Given the description of an element on the screen output the (x, y) to click on. 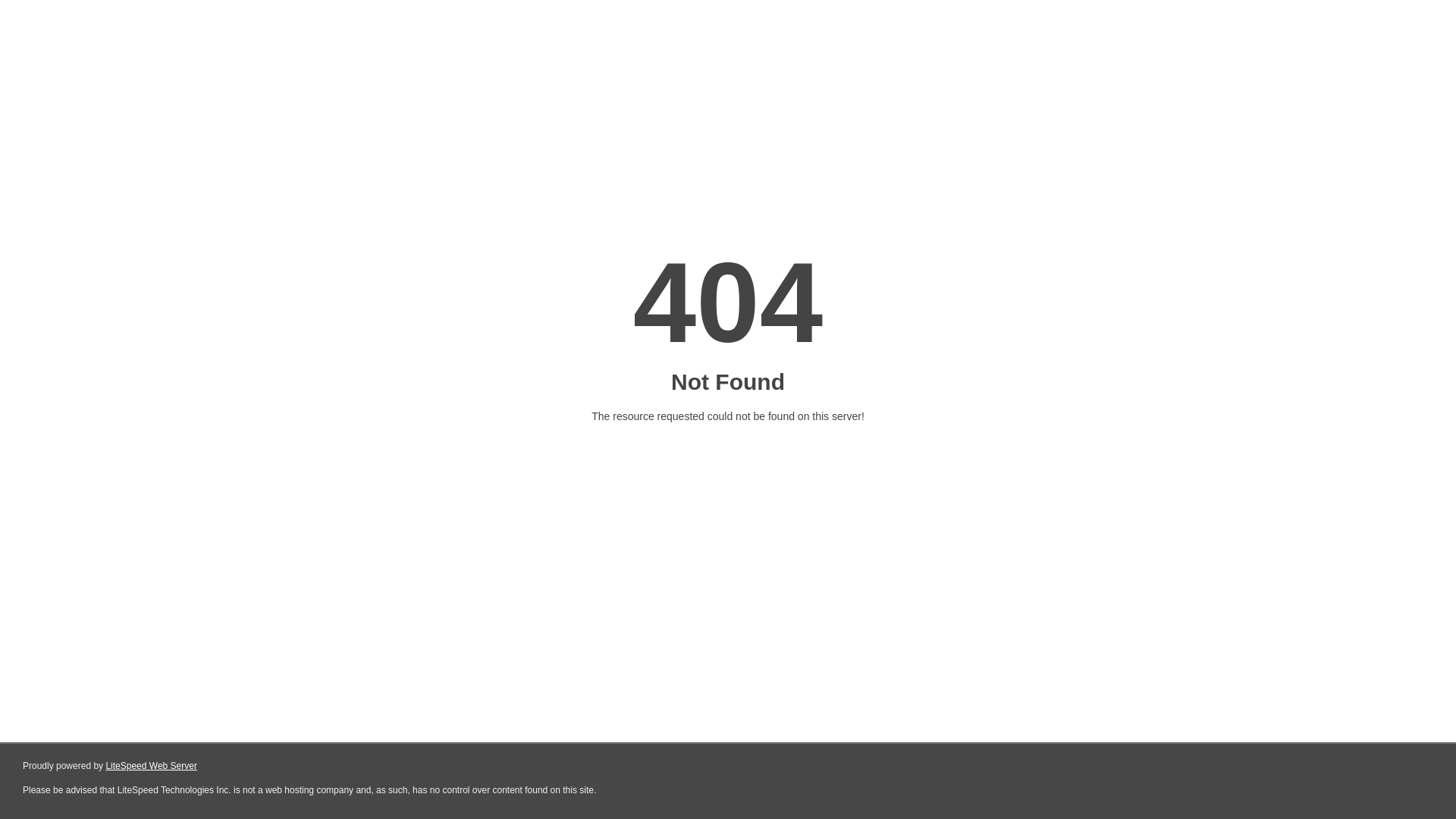
LiteSpeed Web Server Element type: text (151, 765)
